Given the description of an element on the screen output the (x, y) to click on. 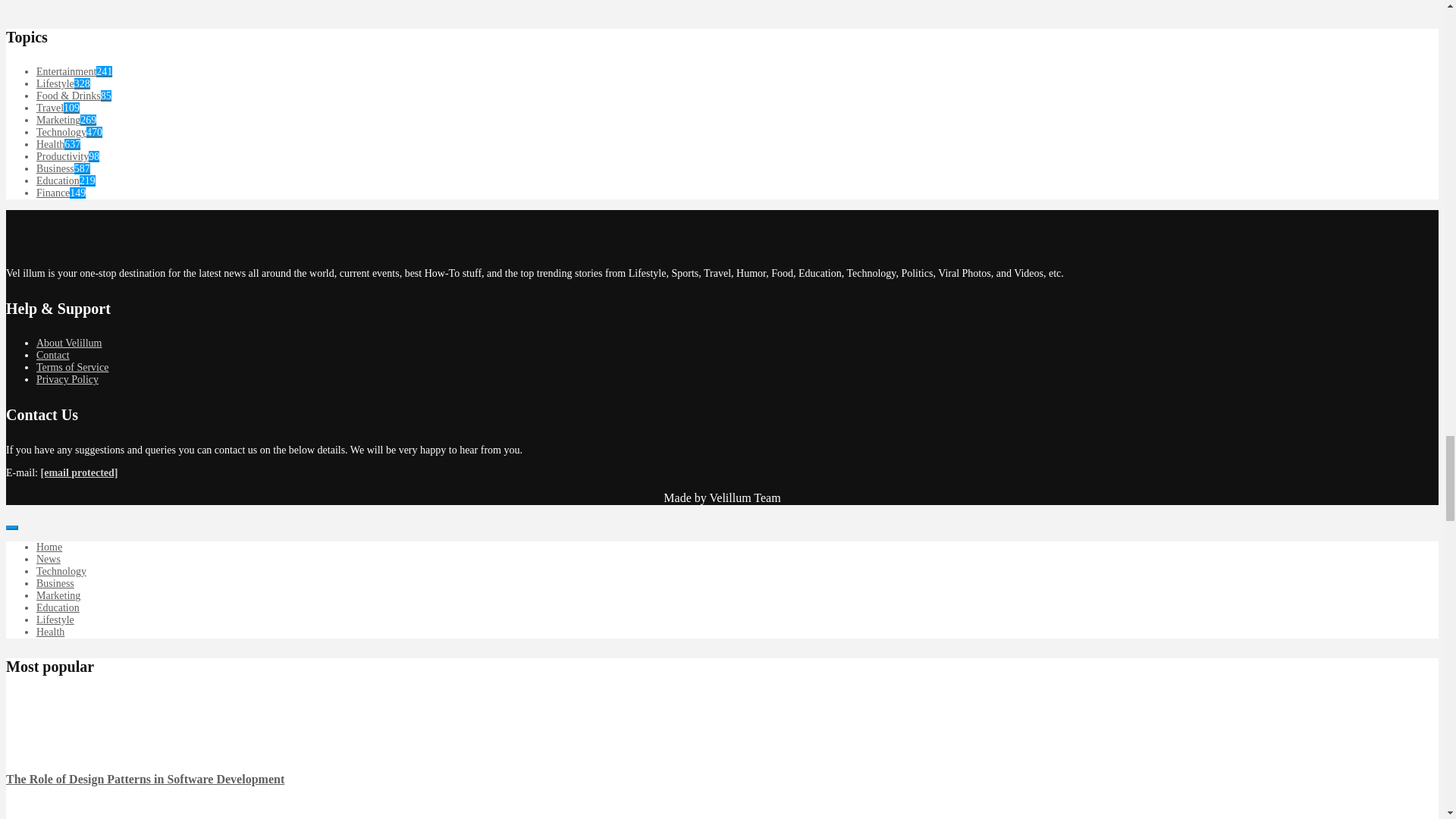
The Role of Design Patterns in Software Development (35, 737)
